Given the description of an element on the screen output the (x, y) to click on. 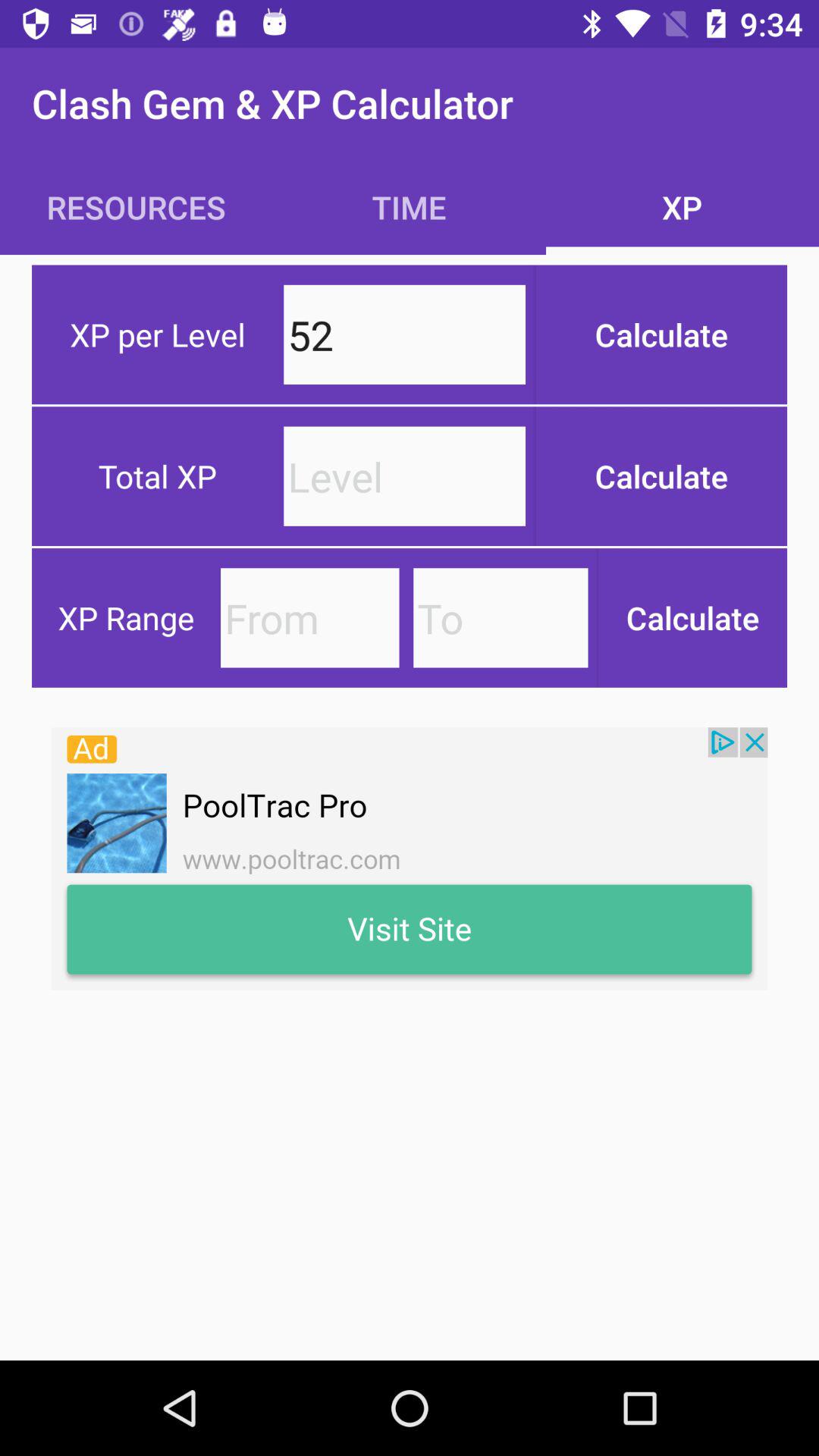
select the total xp level (404, 476)
